Given the description of an element on the screen output the (x, y) to click on. 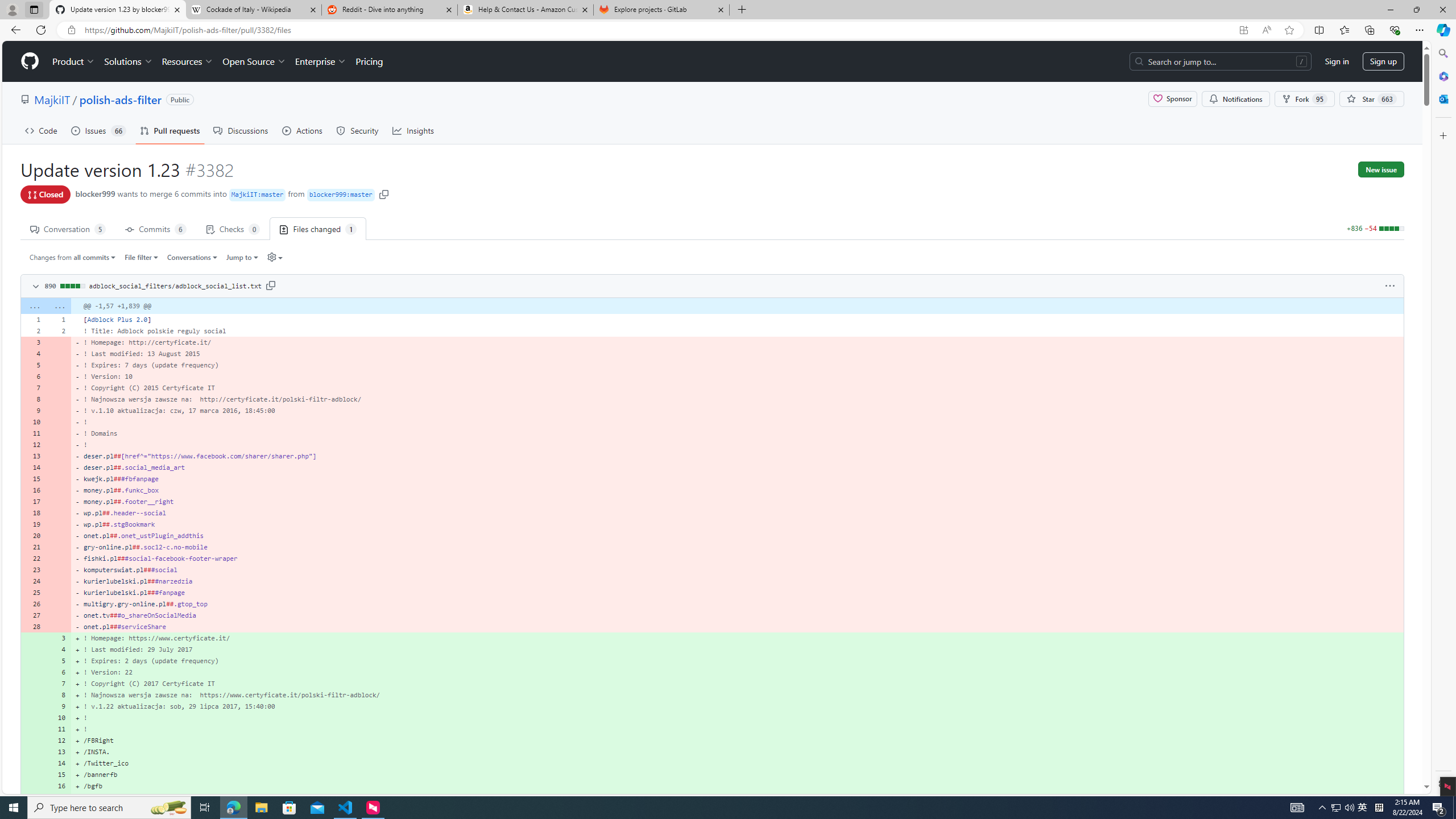
+ ! (737, 728)
Product (74, 60)
- ! Last modified: 13 August 2015 (737, 353)
- ! Domains (737, 432)
- multigry.gry-online.pl##.gtop_top (737, 603)
Pricing (368, 60)
Actions (302, 130)
+ ! Copyright (C) 2017 Certyficate IT (737, 683)
Discussions (240, 130)
17 (58, 797)
Security (357, 130)
... (58, 305)
21 (33, 546)
